Given the description of an element on the screen output the (x, y) to click on. 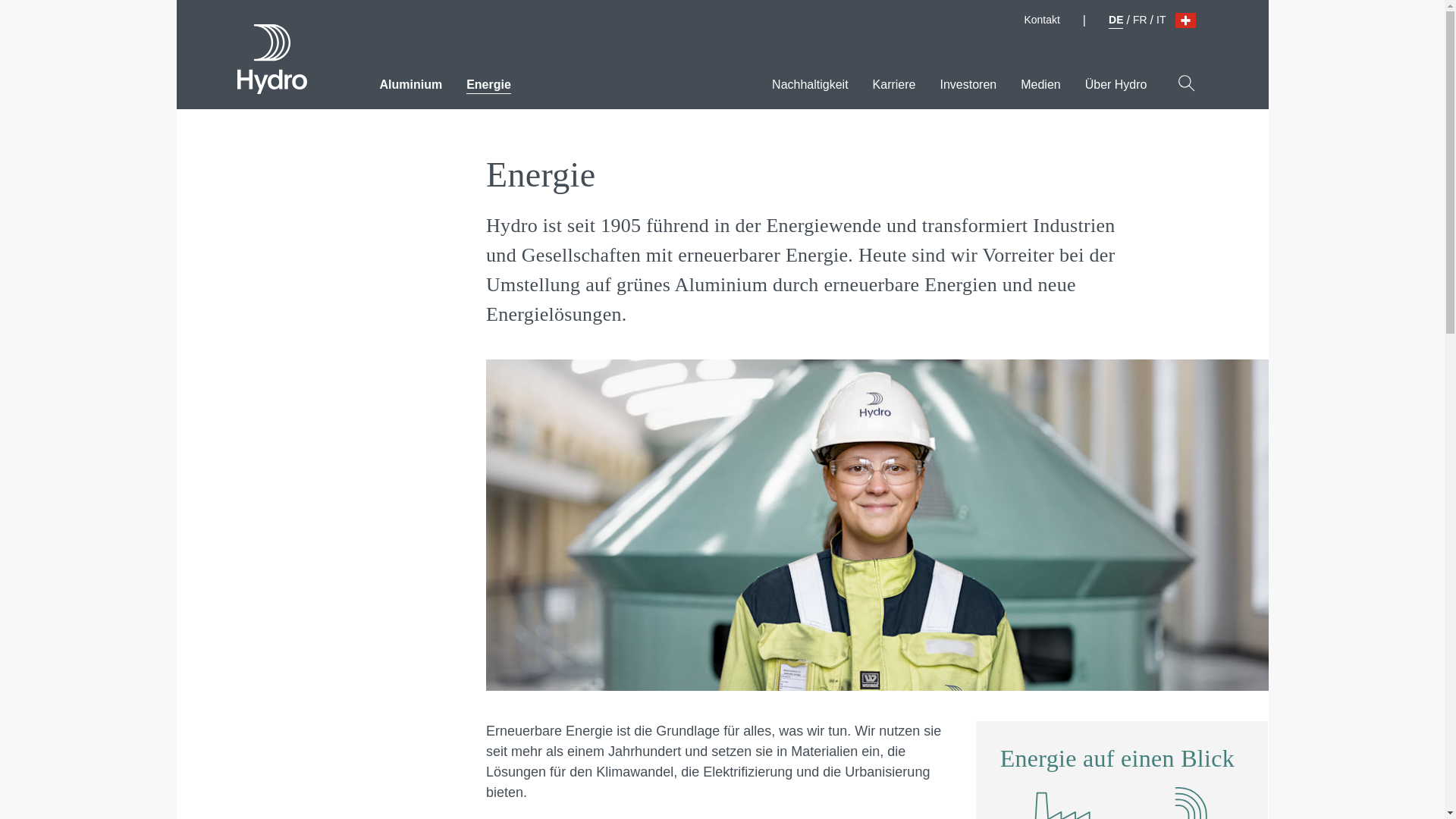
Aluminium (410, 80)
Karriere (893, 80)
Suchen (1185, 82)
Nachhaltigkeit (809, 80)
Kontakt (1041, 20)
Nachhaltigkeit (809, 80)
Karriere (893, 80)
Aluminium (410, 80)
Medien (1039, 80)
